Given the description of an element on the screen output the (x, y) to click on. 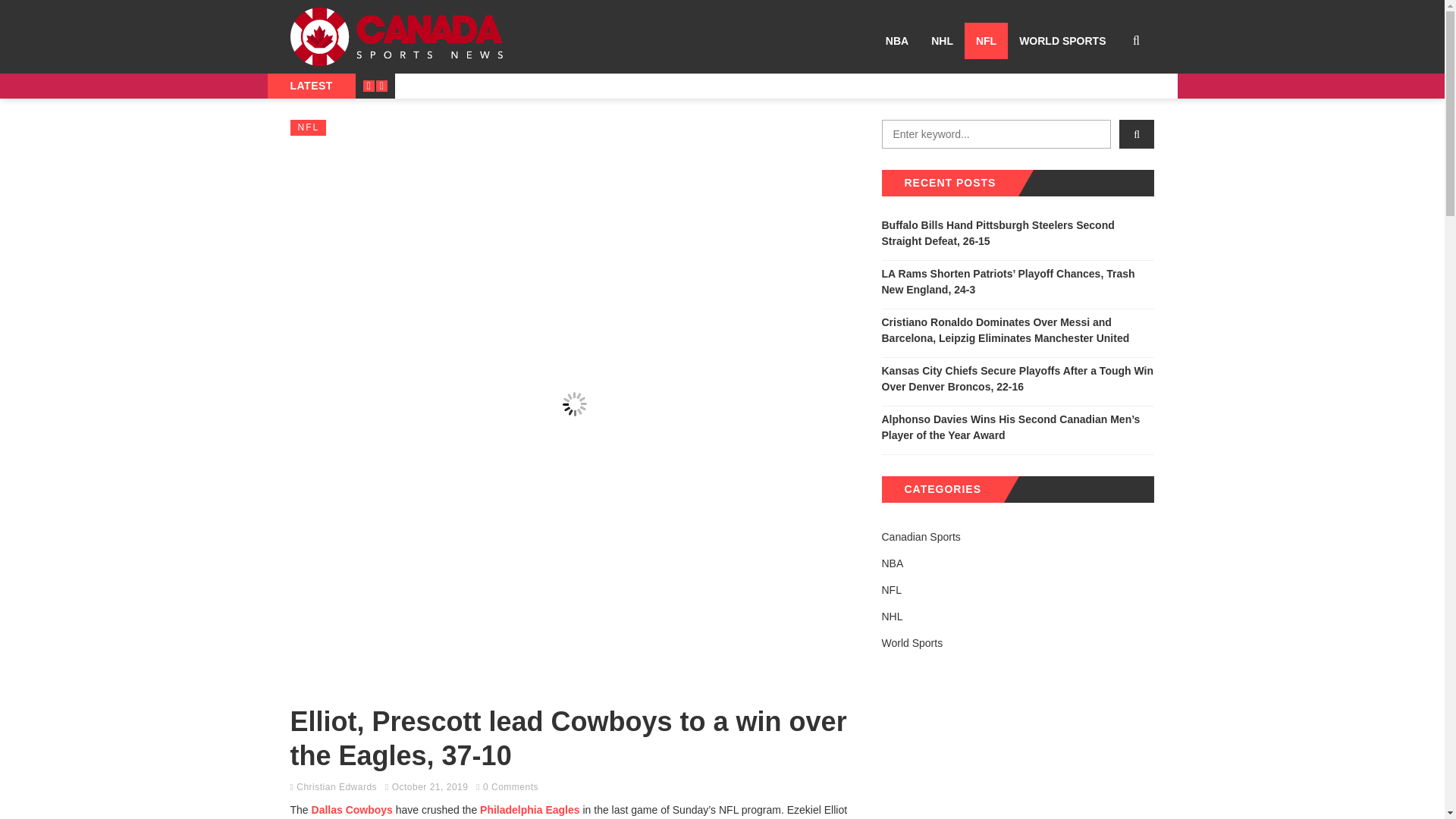
0 Comments (510, 787)
NBA (897, 40)
Posts by Christian Edwards (337, 787)
Philadelphia Eagles (529, 809)
NFL (307, 127)
NFL (985, 40)
Christian Edwards (337, 787)
Dallas Cowboys (352, 809)
WORLD SPORTS (1061, 40)
NHL (941, 40)
